Given the description of an element on the screen output the (x, y) to click on. 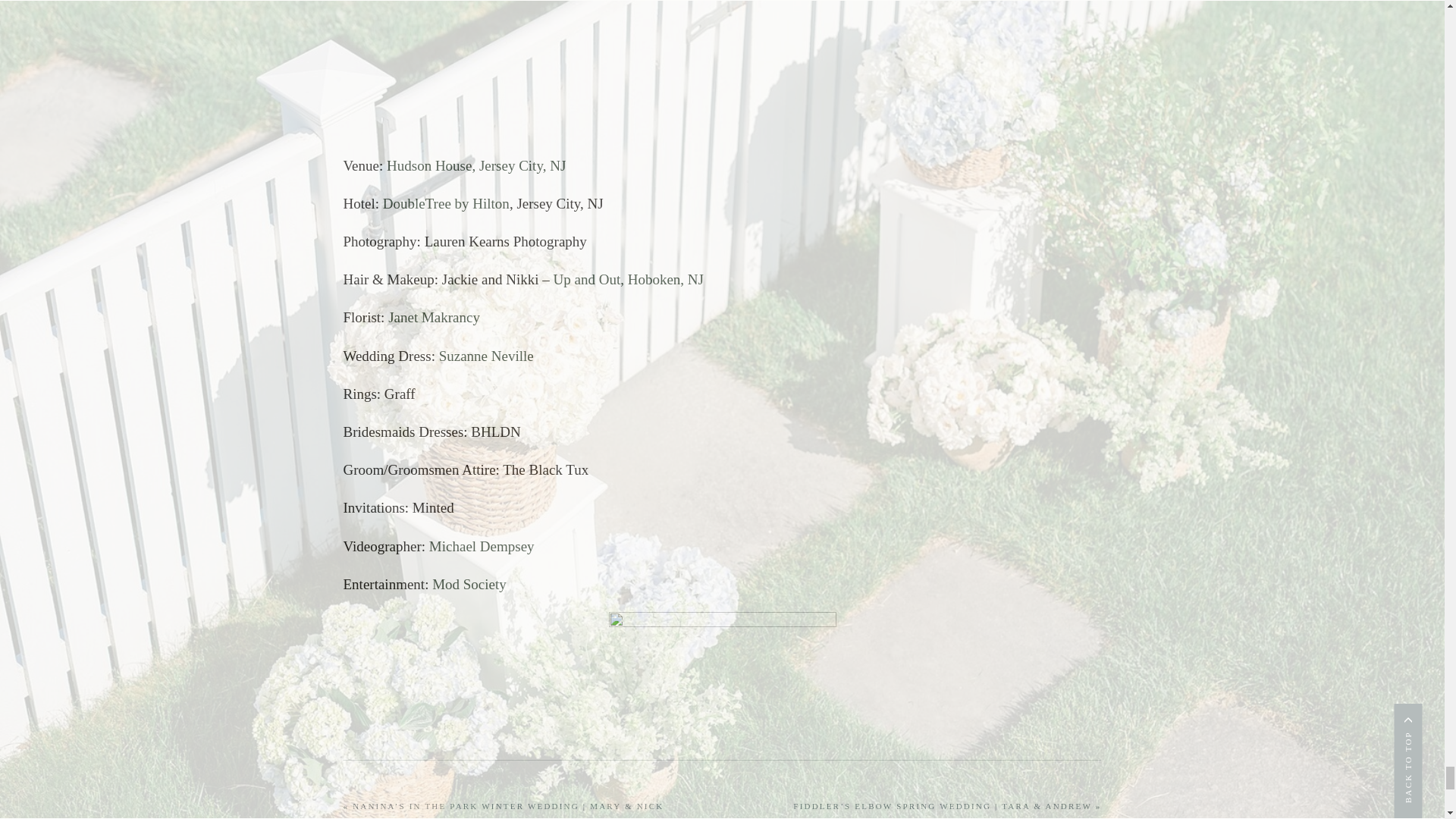
DoubleTree by Hilton (445, 203)
Mod Society (469, 584)
Hudson House, Jersey City, NJ (476, 165)
Suzanne Neville (486, 355)
Up and Out, Hoboken, NJ (628, 279)
Janet Makrancy (432, 317)
Michael Dempsey (481, 546)
